Given the description of an element on the screen output the (x, y) to click on. 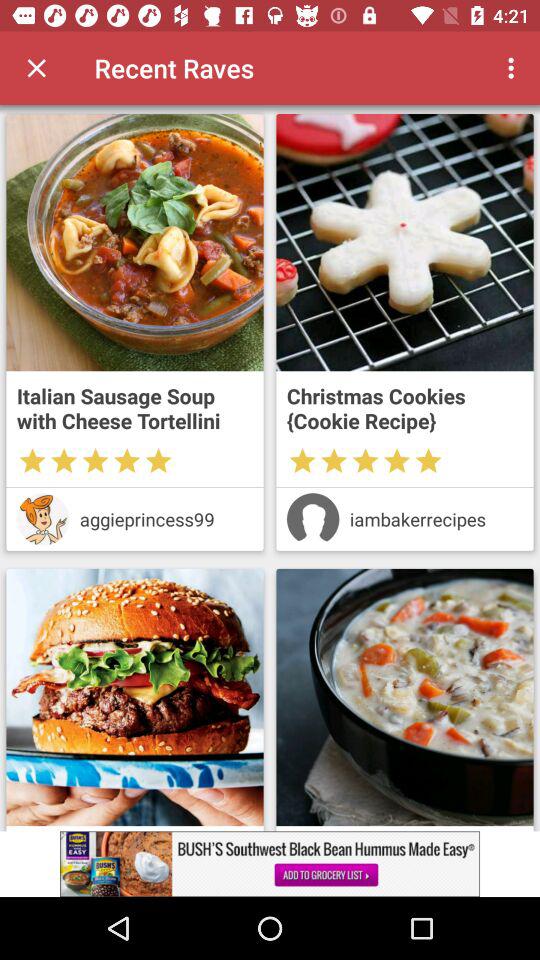
advertisement (404, 697)
